Given the description of an element on the screen output the (x, y) to click on. 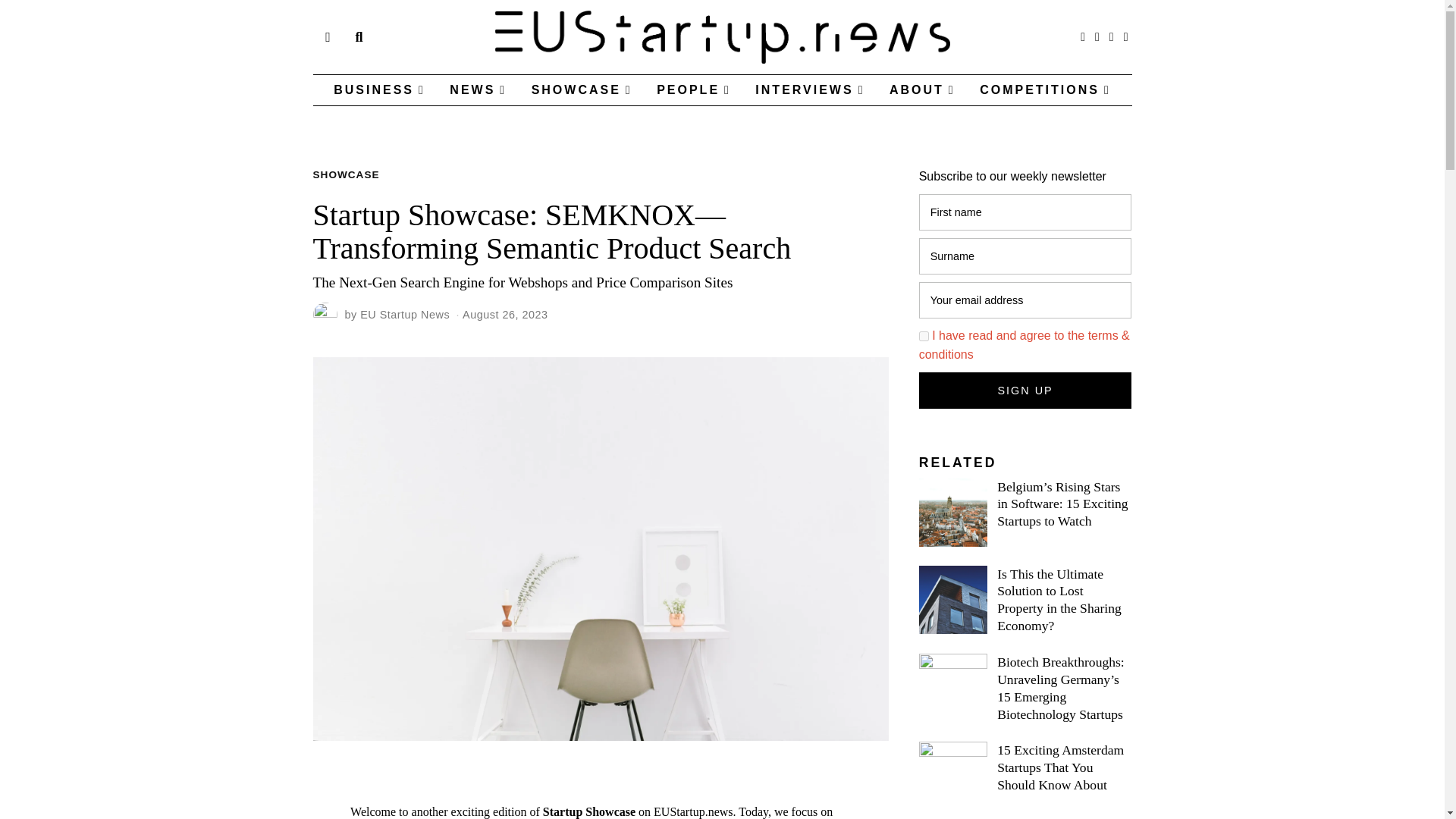
SHOWCASE (582, 90)
EU Startup News (404, 314)
INTERVIEWS (809, 90)
PEOPLE (693, 90)
COMPETITIONS (1045, 90)
ABOUT (922, 90)
NEWS (477, 90)
SHOWCASE (345, 174)
Sign up (1025, 390)
1 (923, 336)
BUSINESS (379, 90)
